Given the description of an element on the screen output the (x, y) to click on. 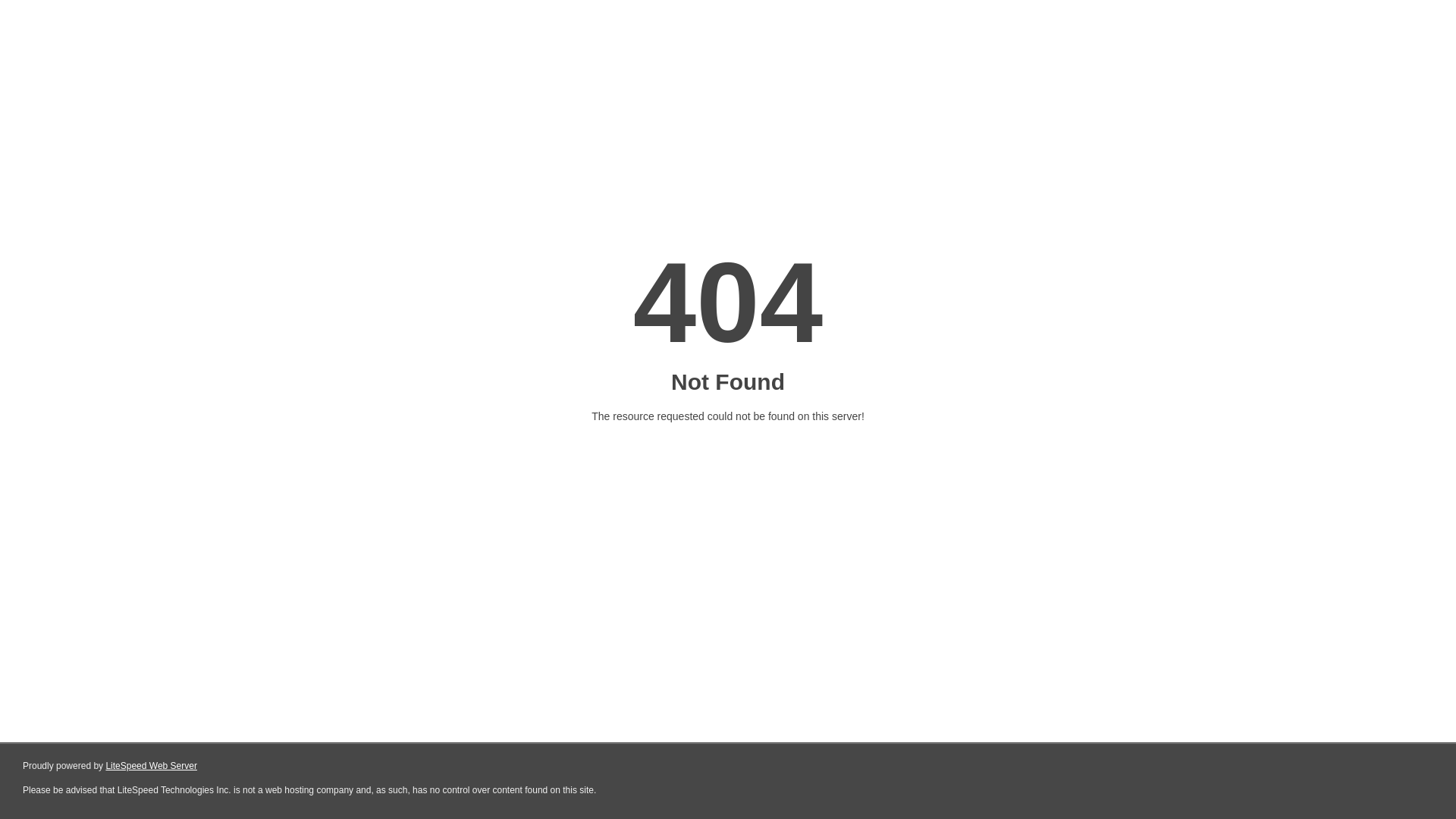
LiteSpeed Web Server Element type: text (151, 765)
